Given the description of an element on the screen output the (x, y) to click on. 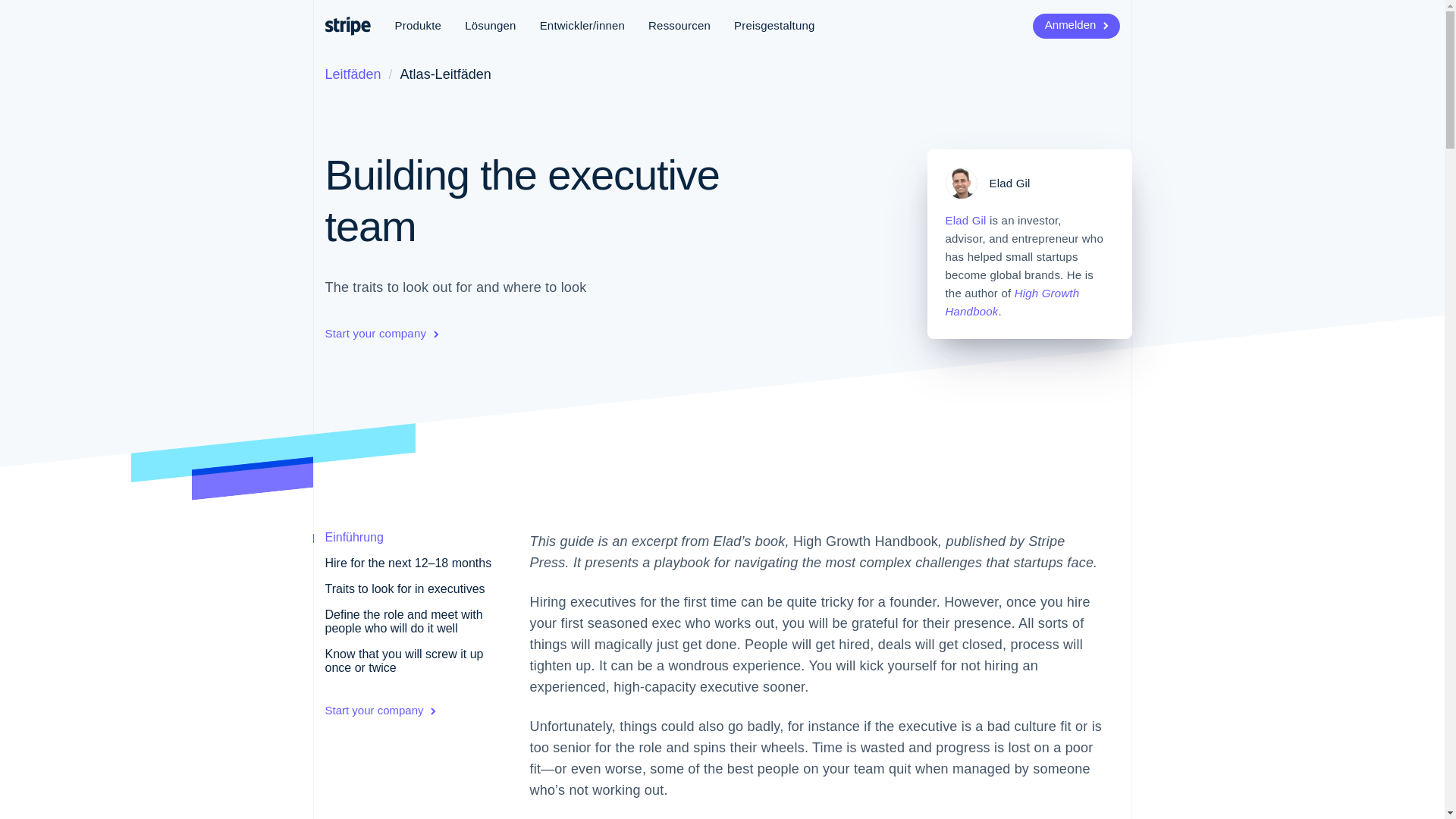
Ressourcen (679, 25)
Produkte (416, 25)
Preisgestaltung (774, 25)
Anmelden  (1075, 25)
